Given the description of an element on the screen output the (x, y) to click on. 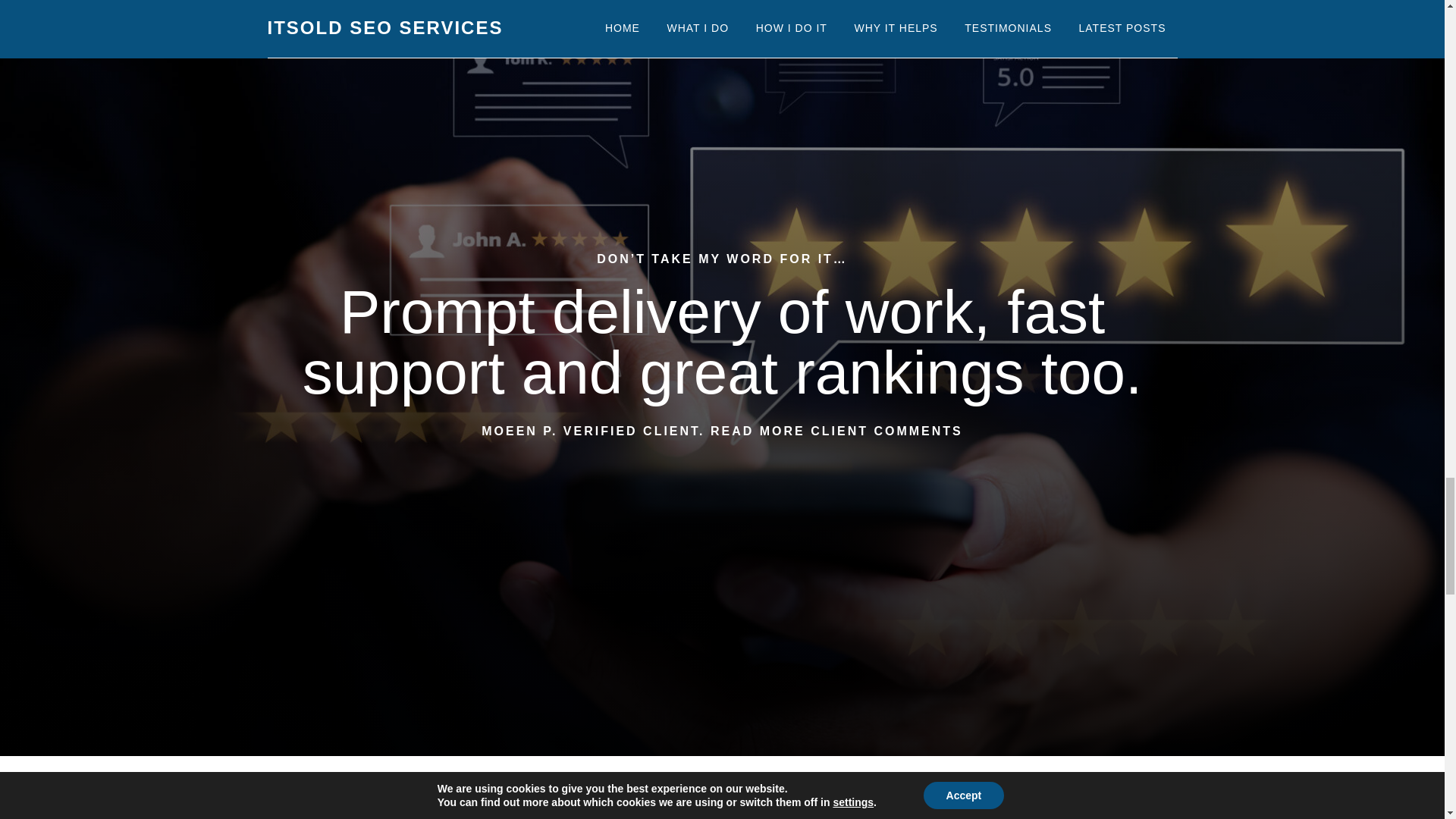
MORE CLIENT COMMENTS (861, 431)
